Given the description of an element on the screen output the (x, y) to click on. 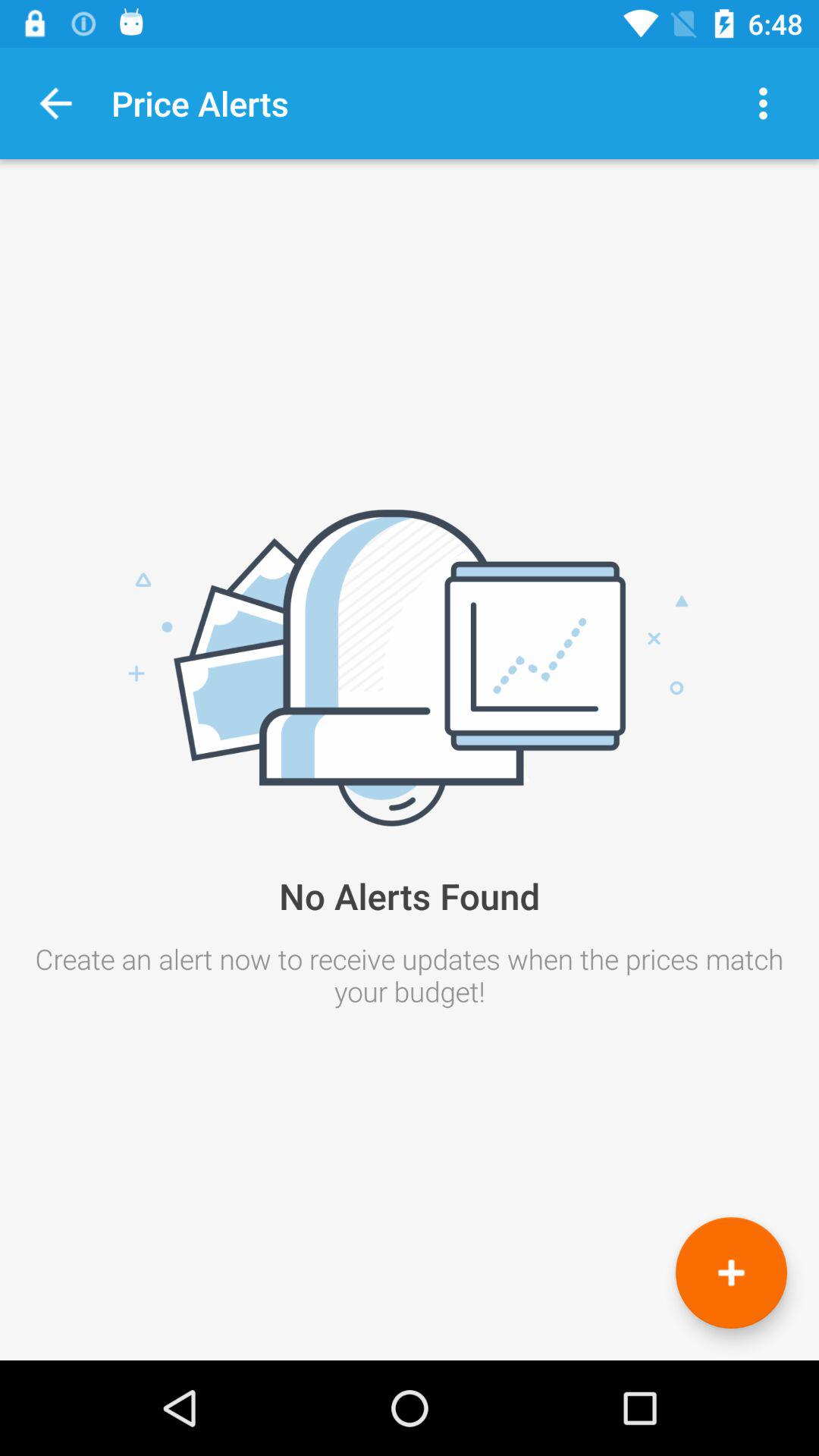
go back (55, 103)
